Given the description of an element on the screen output the (x, y) to click on. 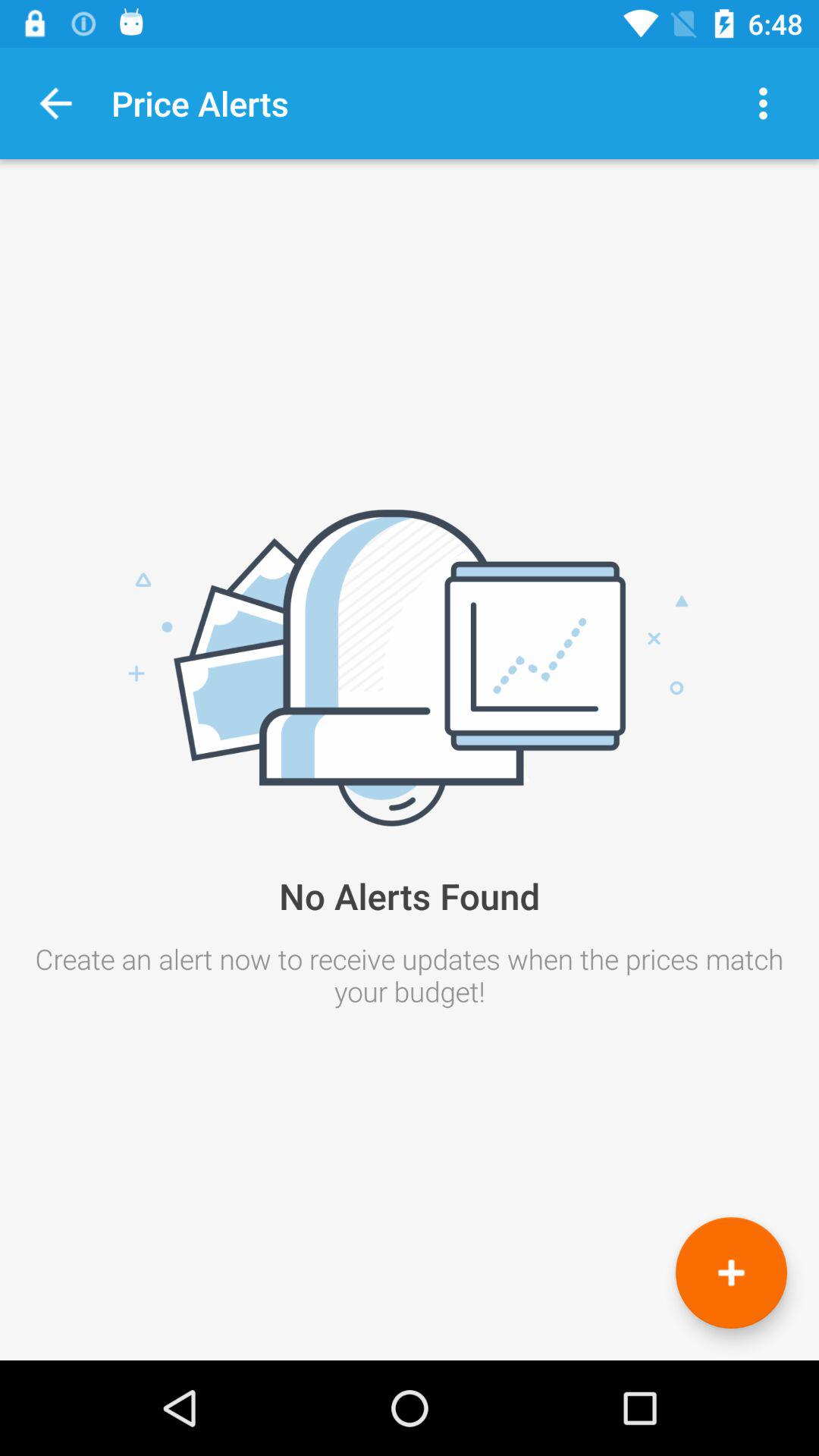
go back (55, 103)
